Given the description of an element on the screen output the (x, y) to click on. 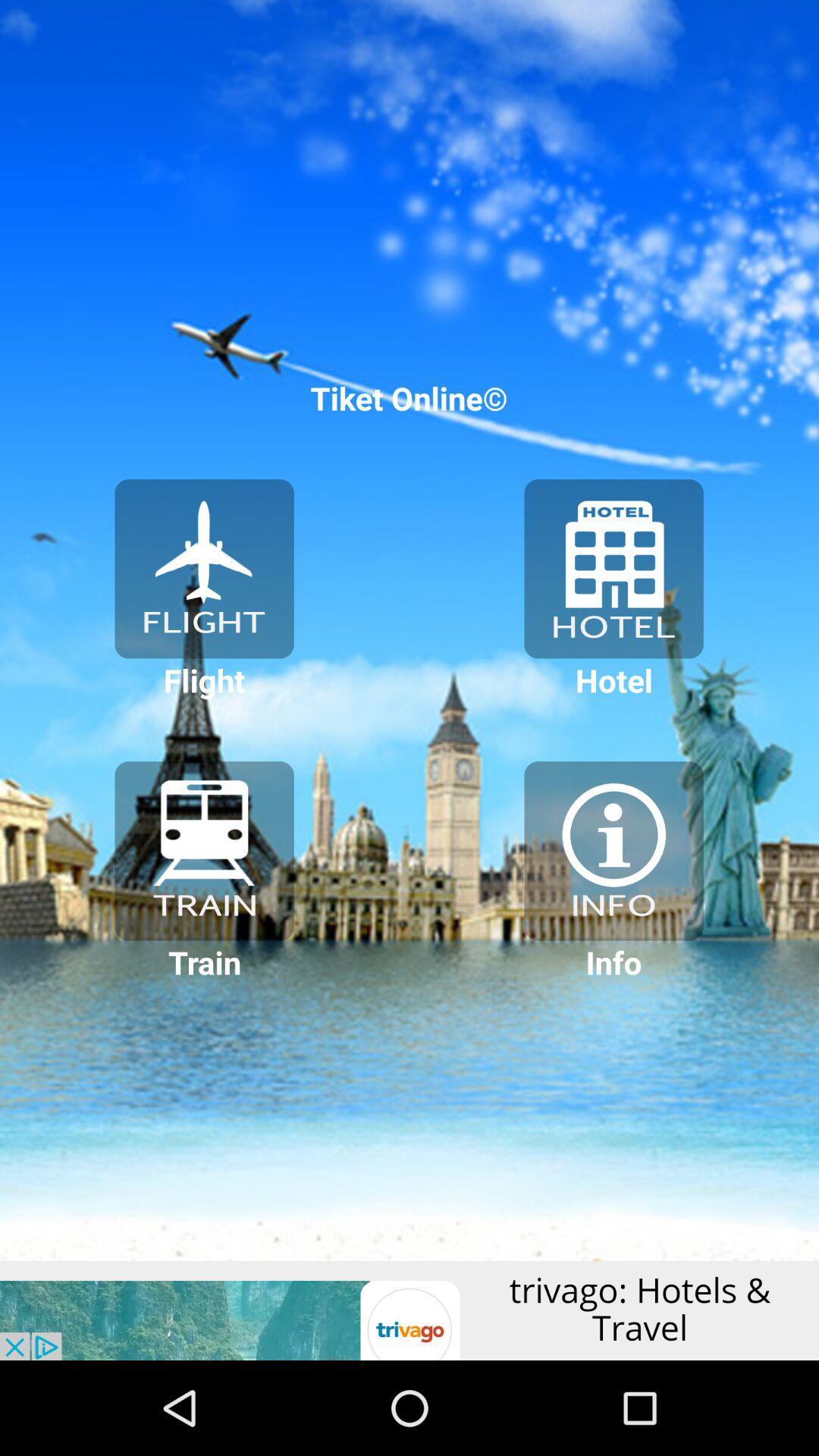
advertisement (409, 1310)
